Given the description of an element on the screen output the (x, y) to click on. 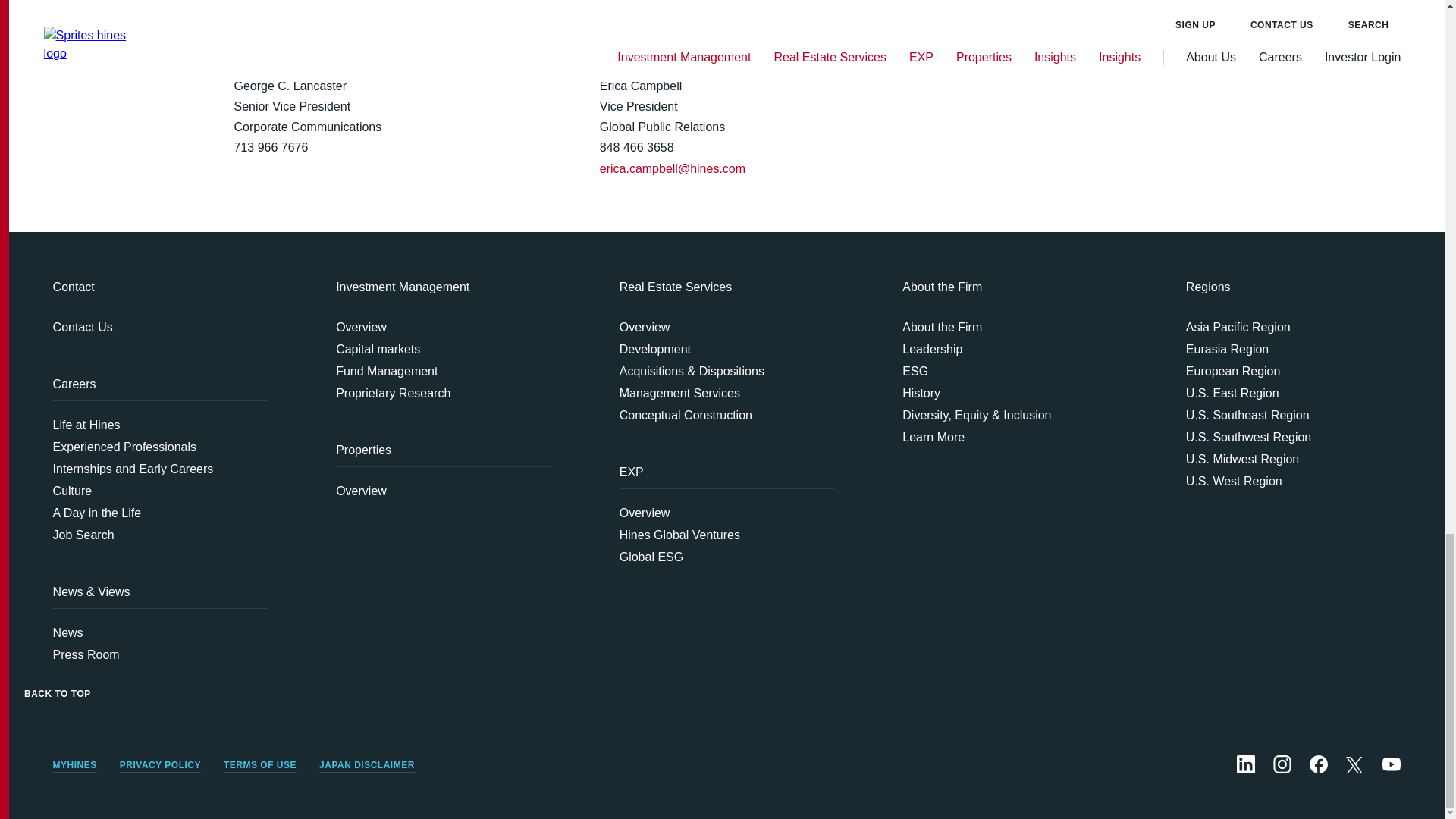
BACK TO TOP (57, 678)
BACK TO TOP (57, 693)
